Given the description of an element on the screen output the (x, y) to click on. 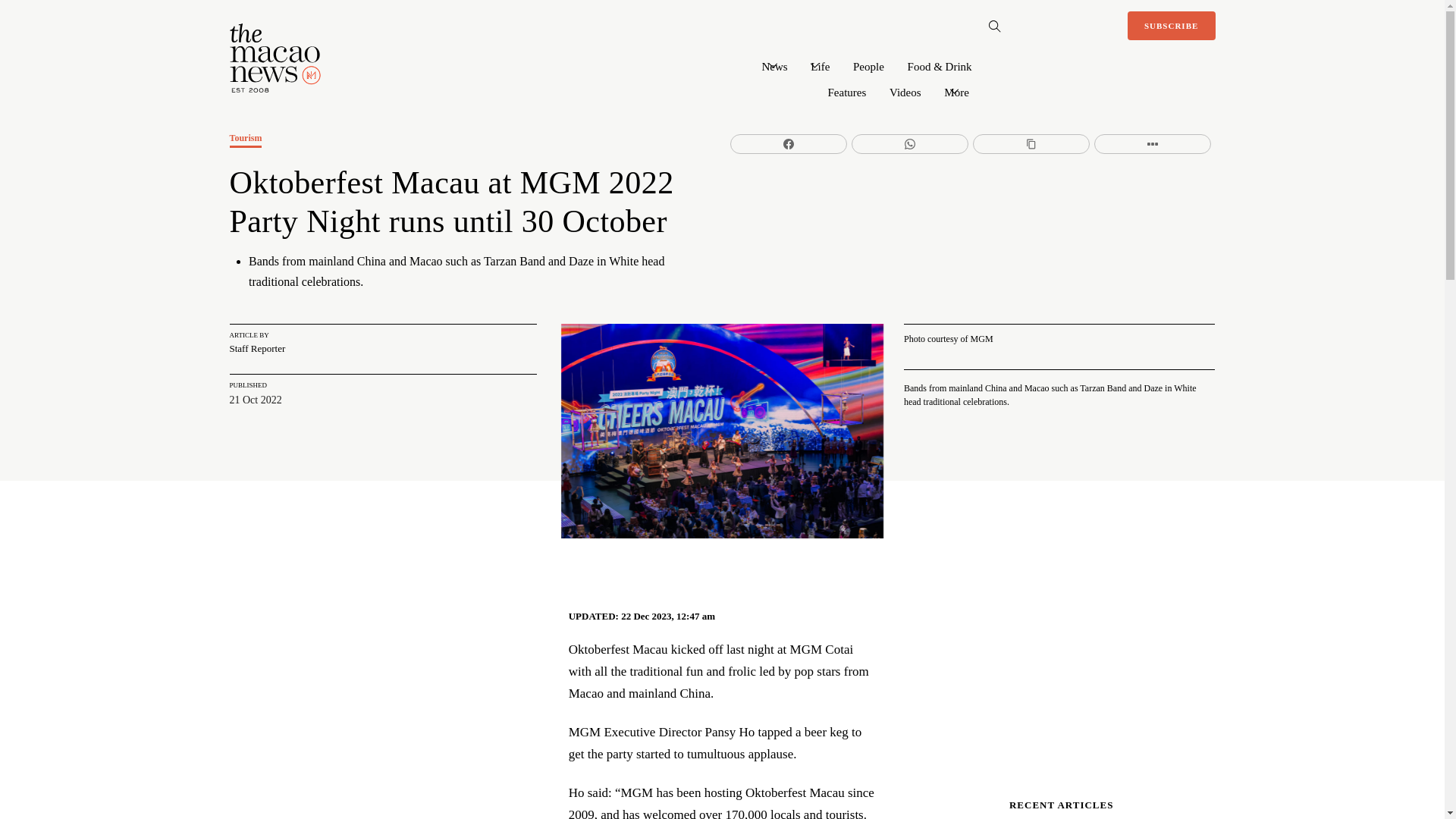
Oktoberfest Macau 2022 (721, 430)
Share on Facebook (788, 143)
Share on Copy Link (1030, 143)
Share on WhatsApp (909, 143)
Share on More Button (1152, 143)
